Given the description of an element on the screen output the (x, y) to click on. 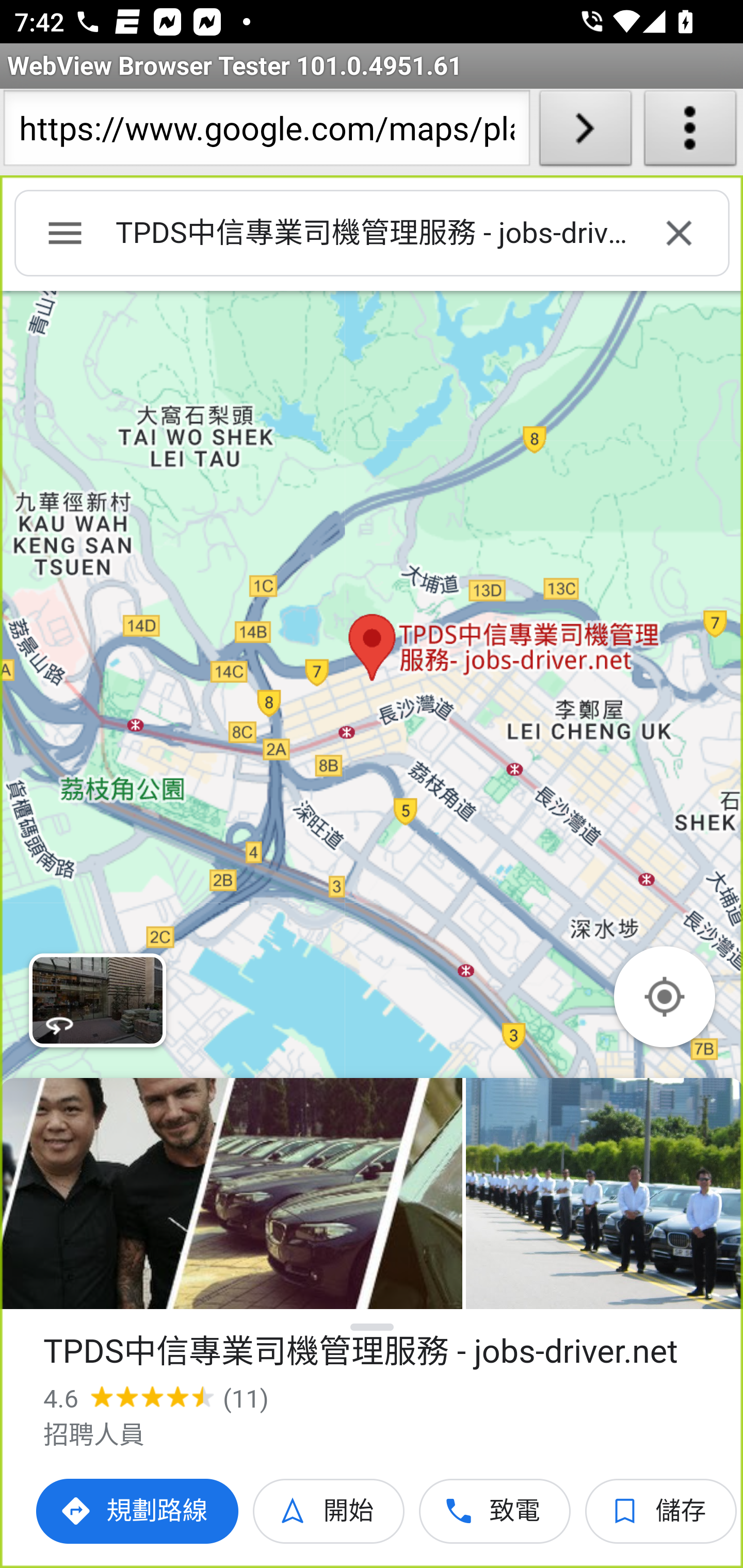
Load URL (585, 132)
About WebView (690, 132)
第 1 張相片 (共 8 張) (231, 1193)
第 2 張相片 (共 8 張) (604, 1193)
顯示詳細資料 (372, 1327)
前往TPDS中信專業司機管理服務 - jobs-driver.net的路線 (137, 1511)
開始 (329, 1511)
致電「TPDS中信專業司機管理服務 - jobs-driver.net」  致電 (495, 1511)
將「TPDS中信專業司機管理服務 - jobs-driver.net」儲存至清單中 (661, 1511)
